Given the description of an element on the screen output the (x, y) to click on. 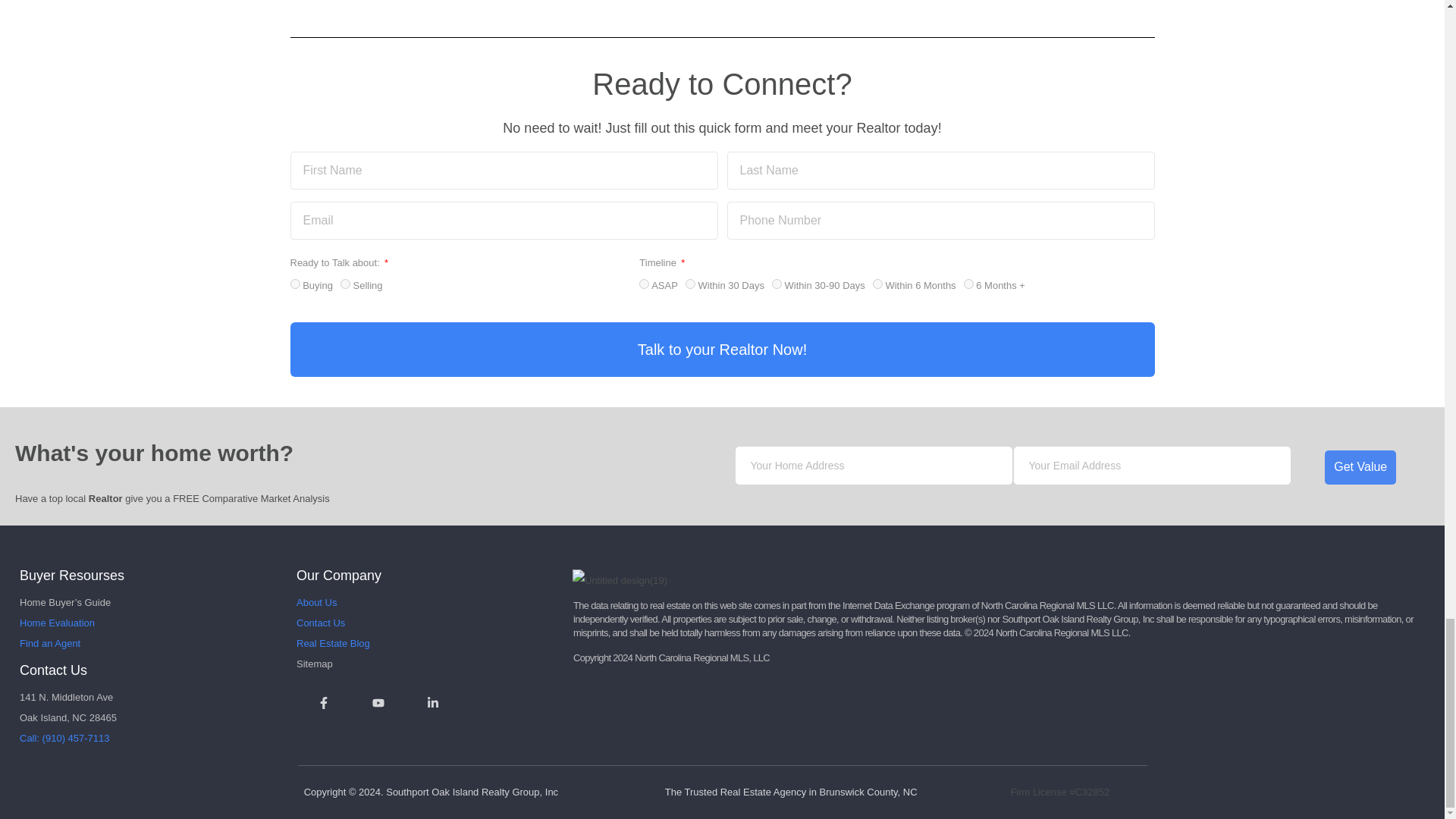
Within 30-90 Days (776, 284)
Within 30 Days (690, 284)
Selling (345, 284)
ASAP (644, 284)
Within 6 Months (877, 284)
Buying (294, 284)
